Given the description of an element on the screen output the (x, y) to click on. 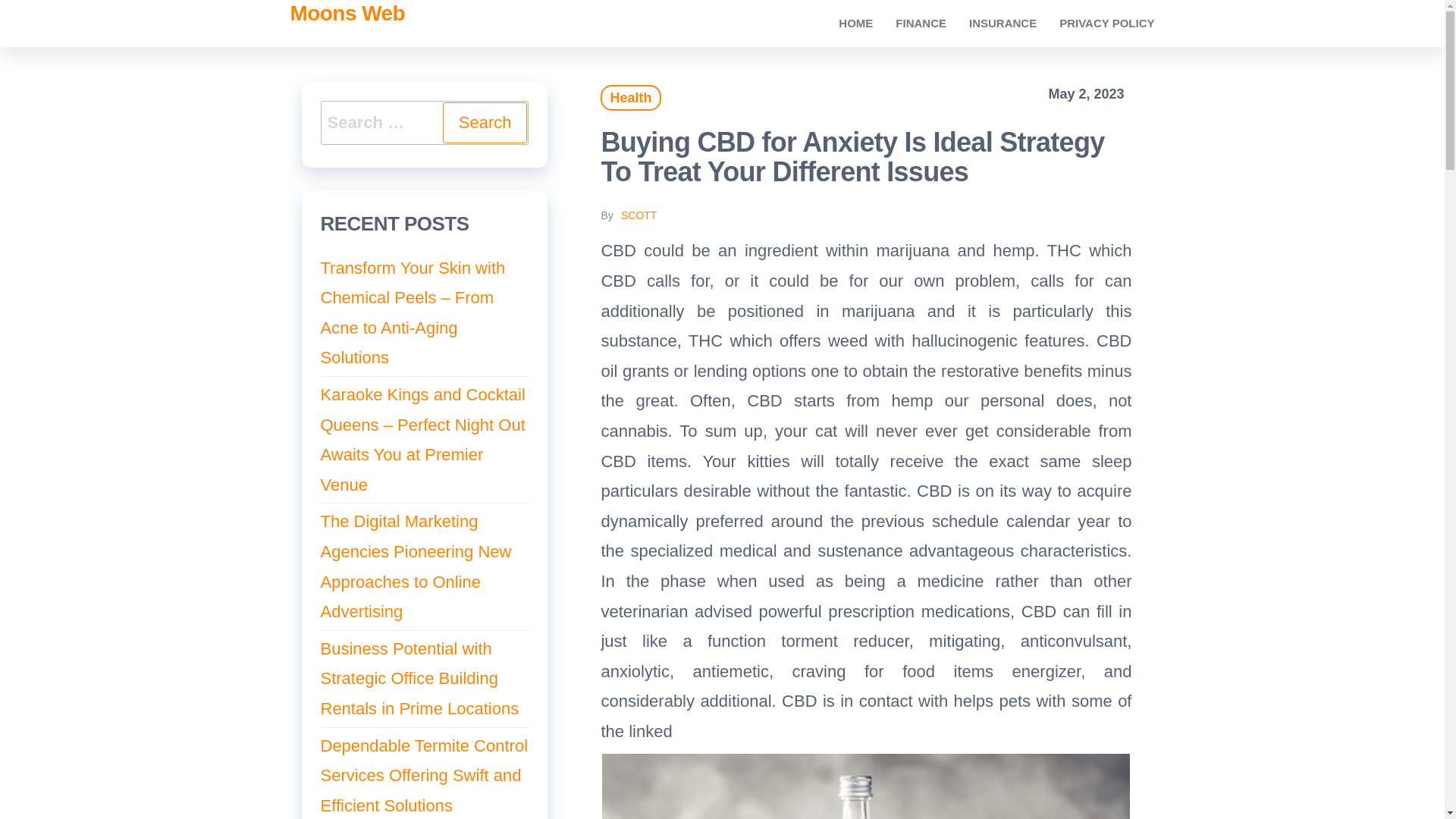
FINANCE (920, 22)
INSURANCE (1003, 22)
Privacy Policy (1107, 22)
HOME (855, 22)
Home (855, 22)
SCOTT (638, 215)
Search (484, 122)
Moons Web (346, 13)
Insurance (1003, 22)
Search (484, 122)
Search (484, 122)
Finance (920, 22)
PRIVACY POLICY (1107, 22)
